Given the description of an element on the screen output the (x, y) to click on. 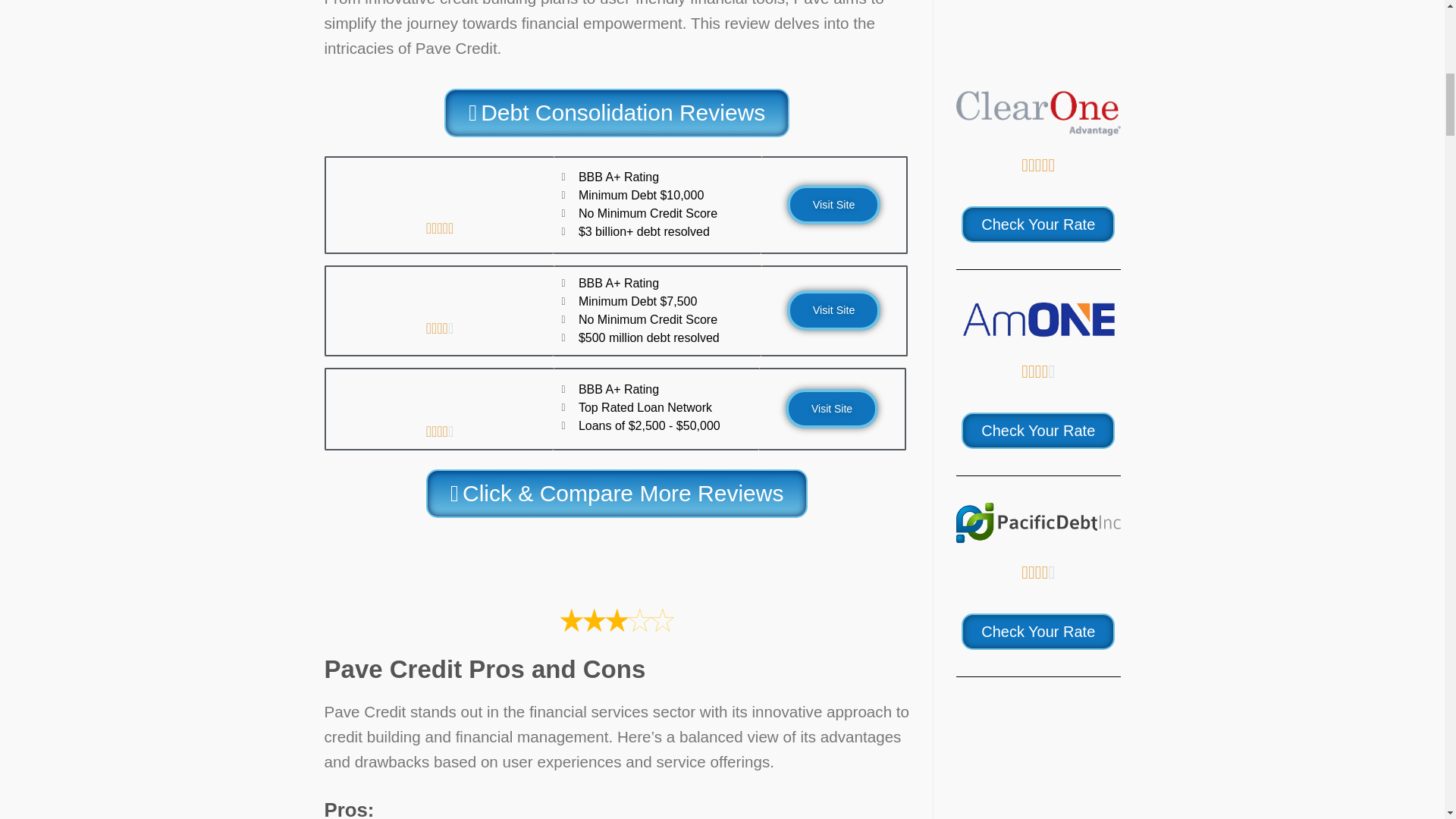
Debt Consolidation Reviews (616, 111)
Pave Credit Review: Is it a Scam or Legit? 2 (616, 558)
Visit Site (833, 310)
Visit Site (831, 408)
Visit Site (833, 204)
